Given the description of an element on the screen output the (x, y) to click on. 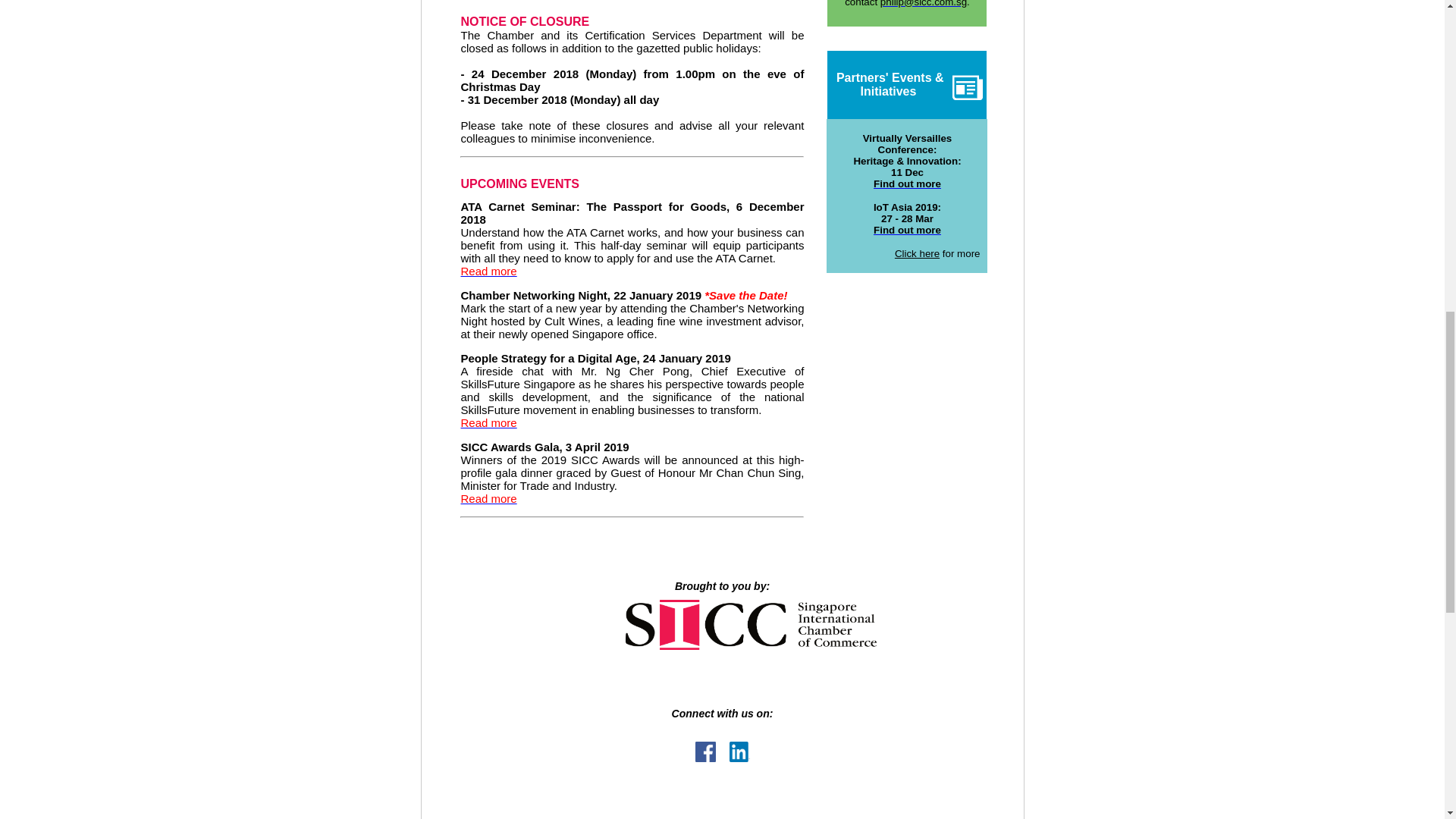
Find out more (906, 229)
Read more (488, 270)
Find out more (906, 183)
Click here (917, 253)
Read more (488, 422)
Read more (488, 498)
